Given the description of an element on the screen output the (x, y) to click on. 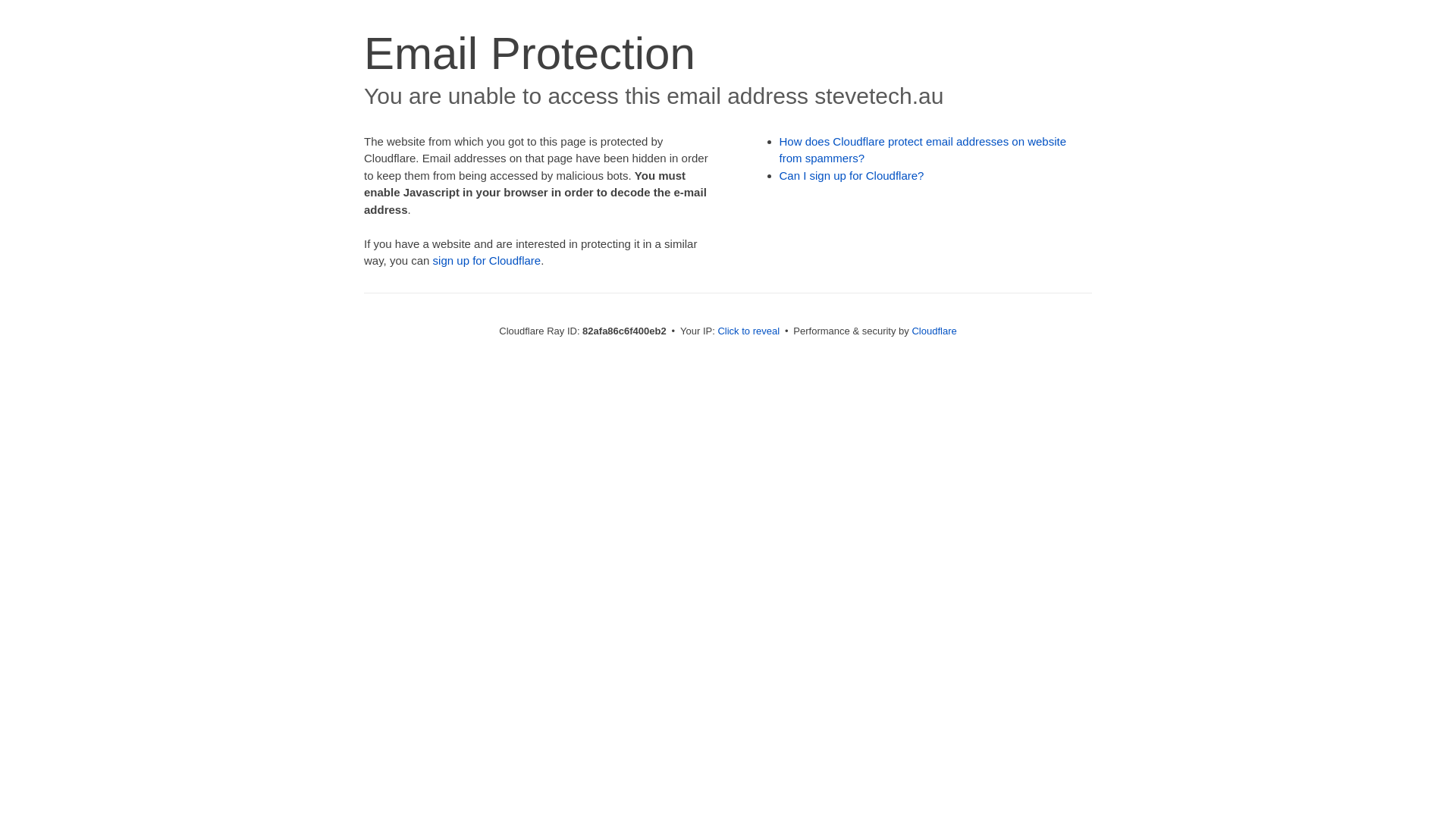
sign up for Cloudflare Element type: text (487, 260)
Can I sign up for Cloudflare? Element type: text (851, 175)
Cloudflare Element type: text (933, 330)
Click to reveal Element type: text (748, 330)
